Given the description of an element on the screen output the (x, y) to click on. 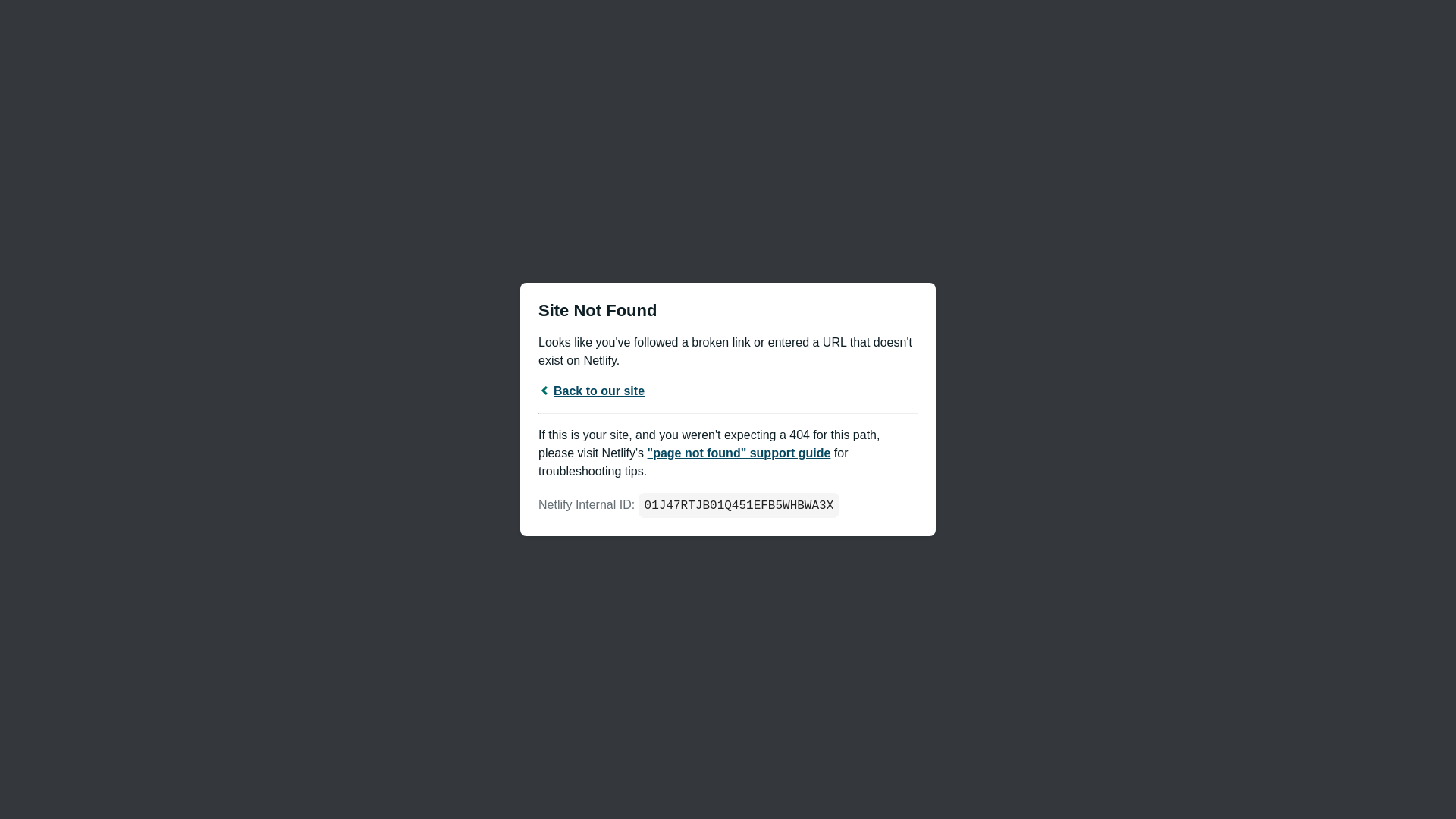
Back to our site (591, 390)
"page not found" support guide (739, 452)
